Given the description of an element on the screen output the (x, y) to click on. 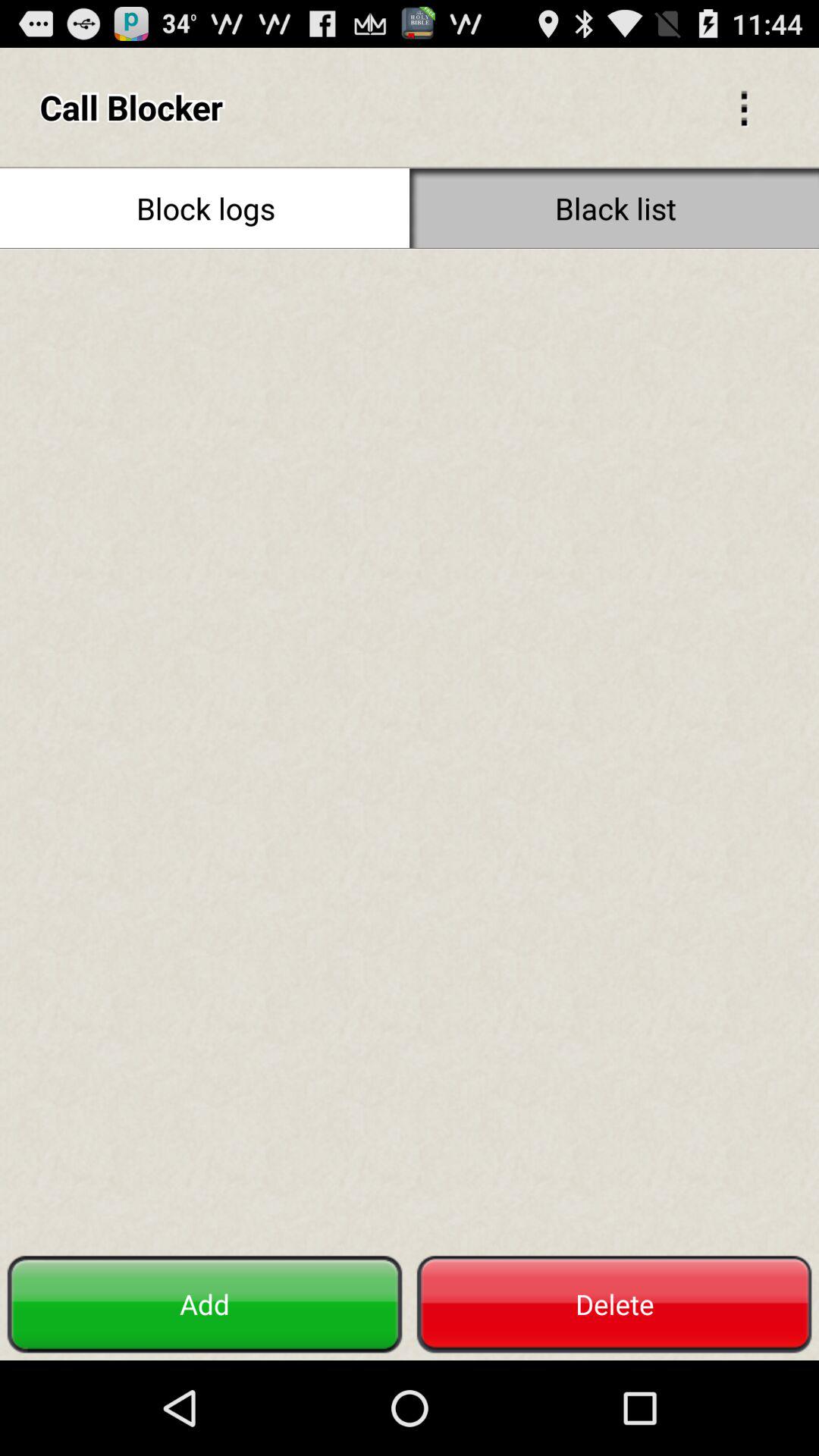
launch the icon to the right of the add icon (613, 1304)
